Given the description of an element on the screen output the (x, y) to click on. 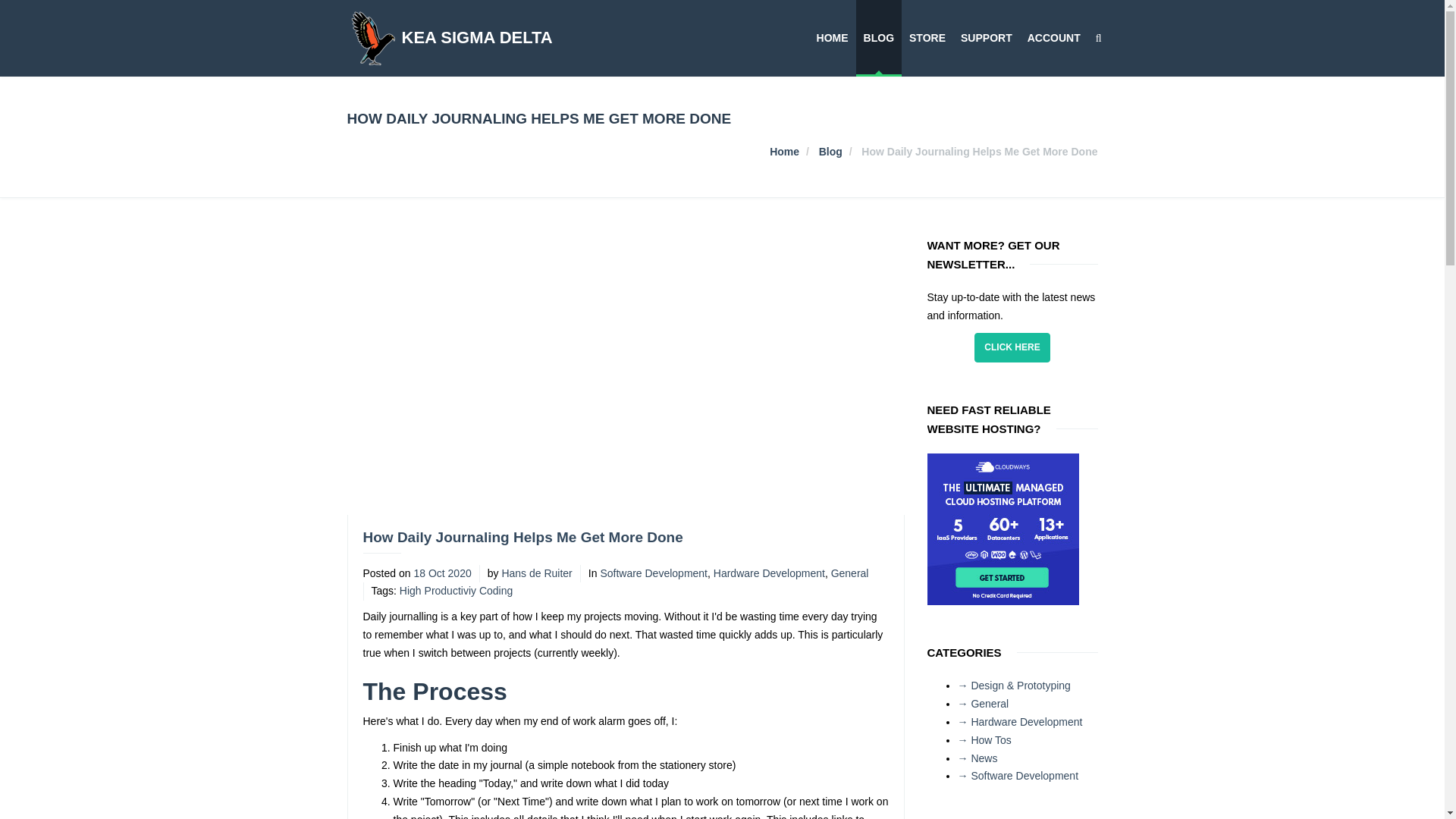
General (850, 573)
Blog (830, 151)
View entries were posted on 18 Oct (441, 573)
CLICK HERE (1011, 347)
High Productiviy Coding (455, 590)
Hans de Ruiter (536, 573)
How Daily Journaling Helps Me Get More Done (522, 537)
Home (784, 151)
The Ultimate Managed Hosting Platform (1002, 529)
Software Development (653, 573)
Kea Sigma Delta (784, 151)
DIY-Laptop Signup (1011, 347)
Account (1053, 38)
KEA SIGMA DELTA (448, 38)
Hardware Development (769, 573)
